Given the description of an element on the screen output the (x, y) to click on. 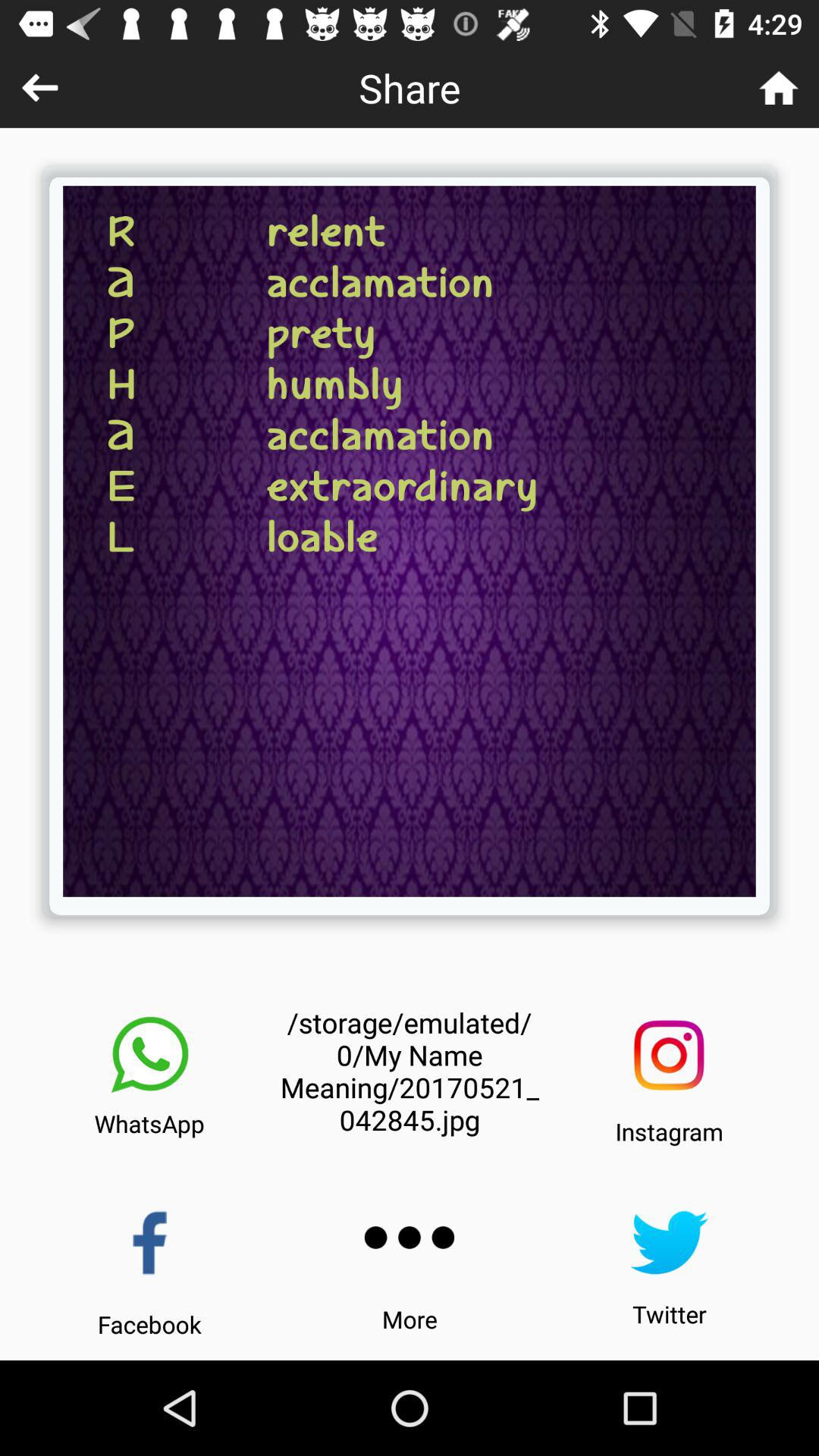
share article to twitter (669, 1242)
